Given the description of an element on the screen output the (x, y) to click on. 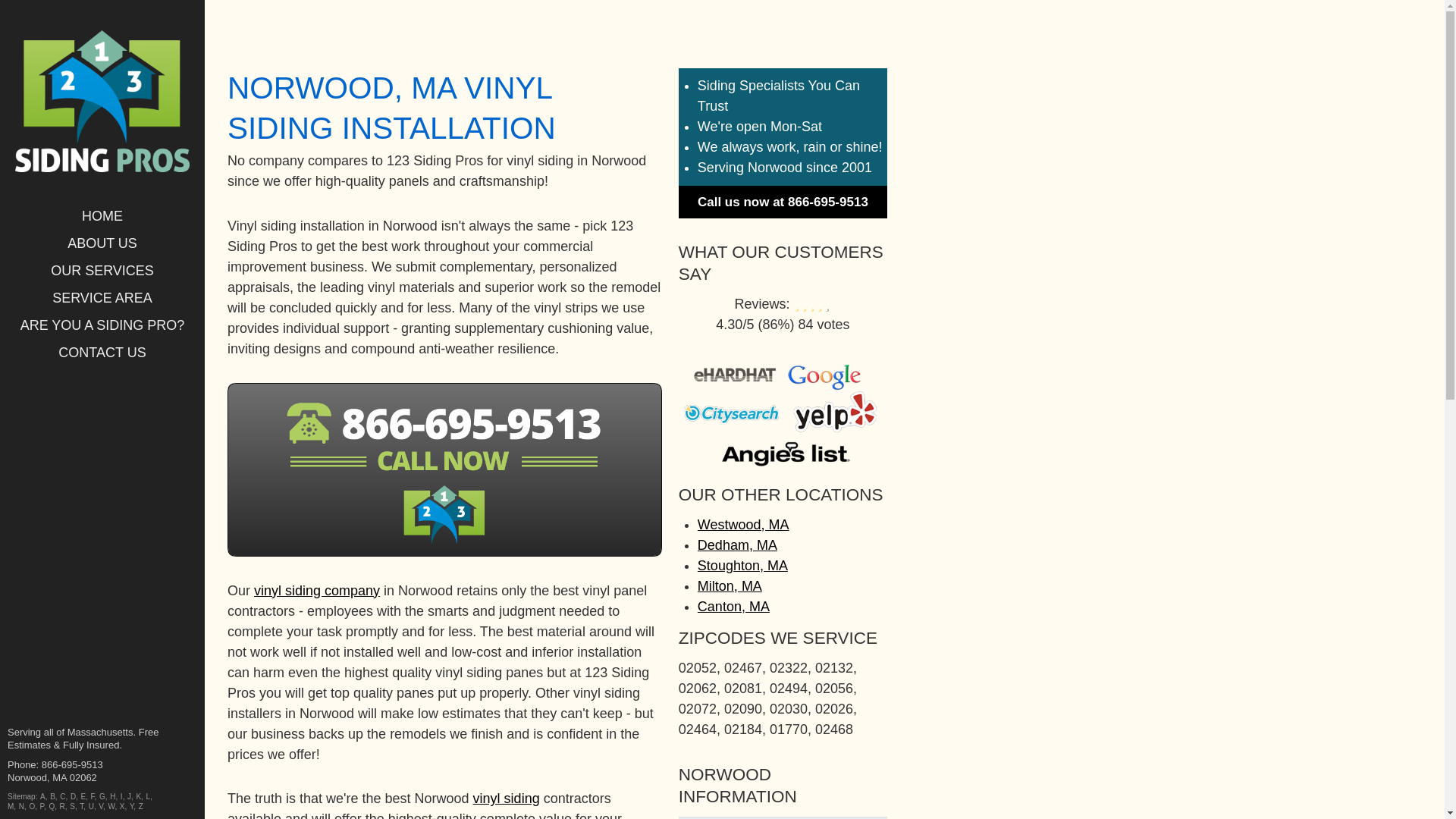
S Element type: text (72, 806)
Canton, MA Element type: text (733, 606)
L Element type: text (148, 796)
Milton, MA Element type: text (729, 585)
P Element type: text (41, 806)
C Element type: text (62, 796)
O Element type: text (31, 806)
I Element type: text (121, 796)
SERVICE AREA Element type: text (102, 297)
Stoughton, MA Element type: text (742, 565)
J Element type: text (129, 796)
N Element type: text (21, 806)
W Element type: text (110, 806)
T Element type: text (81, 806)
K Element type: text (138, 796)
Z Element type: text (140, 806)
Y Element type: text (131, 806)
G Element type: text (102, 796)
Q Element type: text (51, 806)
Westwood, MA Element type: text (743, 524)
D Element type: text (72, 796)
ABOUT US Element type: text (102, 243)
H Element type: text (112, 796)
Sitemap Element type: text (21, 796)
Dedham, MA Element type: text (737, 544)
U Element type: text (91, 806)
vinyl siding Element type: text (506, 798)
V Element type: text (100, 806)
X Element type: text (122, 806)
F Element type: text (92, 796)
OUR SERVICES Element type: text (102, 270)
E Element type: text (83, 796)
vinyl siding company Element type: text (316, 590)
ARE YOU A SIDING PRO? Element type: text (102, 324)
M Element type: text (10, 806)
B Element type: text (52, 796)
HOME Element type: text (102, 215)
CONTACT US Element type: text (102, 352)
R Element type: text (62, 806)
A Element type: text (42, 796)
